Given the description of an element on the screen output the (x, y) to click on. 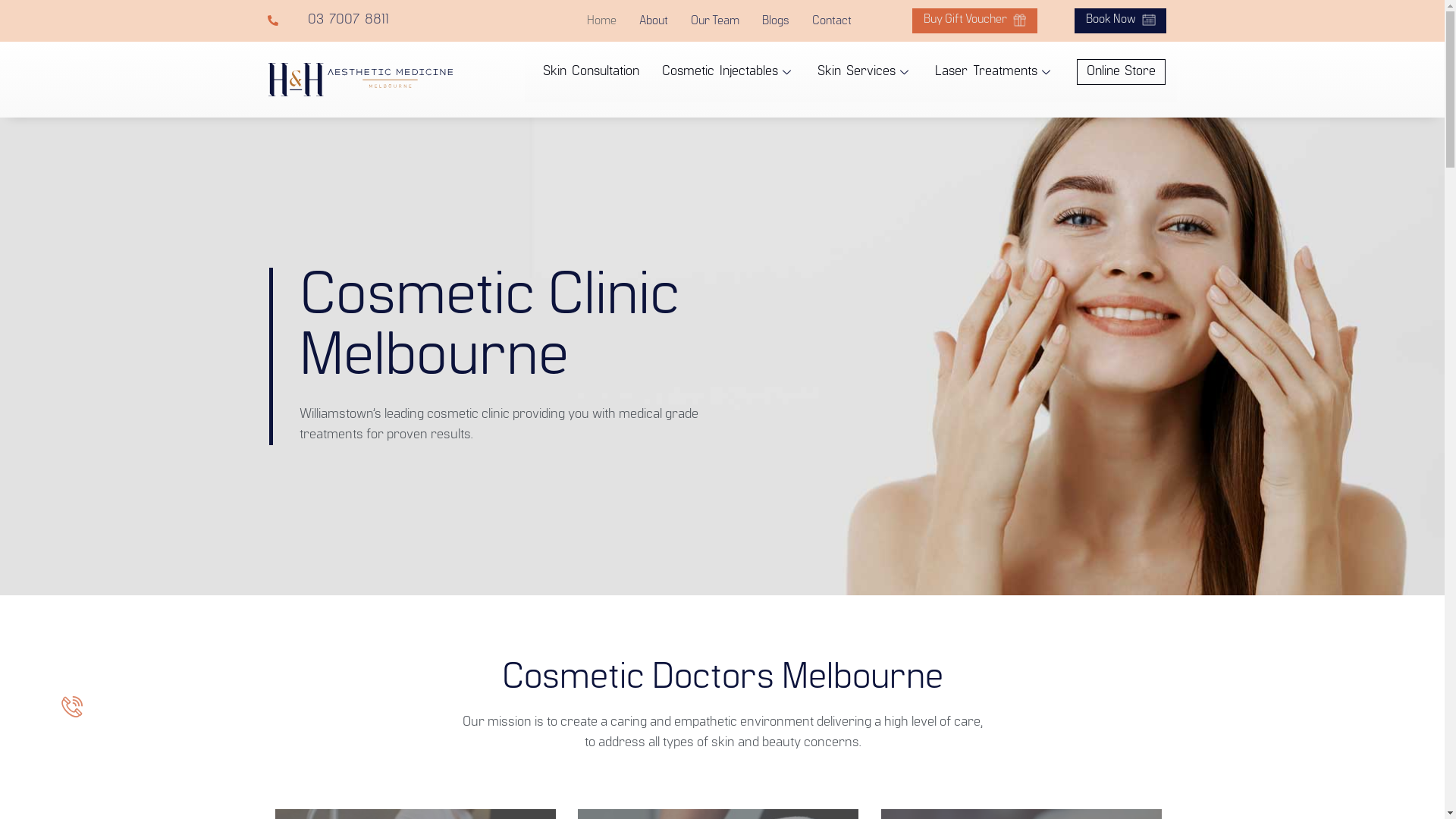
Blogs Element type: text (775, 20)
Home Element type: text (601, 20)
Laser Treatments Element type: text (994, 71)
03 7007 8811 Element type: text (362, 20)
Buy Gift Voucher Element type: text (974, 20)
Skin Consultation Element type: text (590, 71)
Contact Element type: text (831, 20)
Cosmetic Injectables Element type: text (728, 71)
Skin Services Element type: text (864, 71)
About Element type: text (653, 20)
Our Team Element type: text (714, 20)
Book Now Element type: text (1120, 20)
Online Store Element type: text (1121, 71)
